Given the description of an element on the screen output the (x, y) to click on. 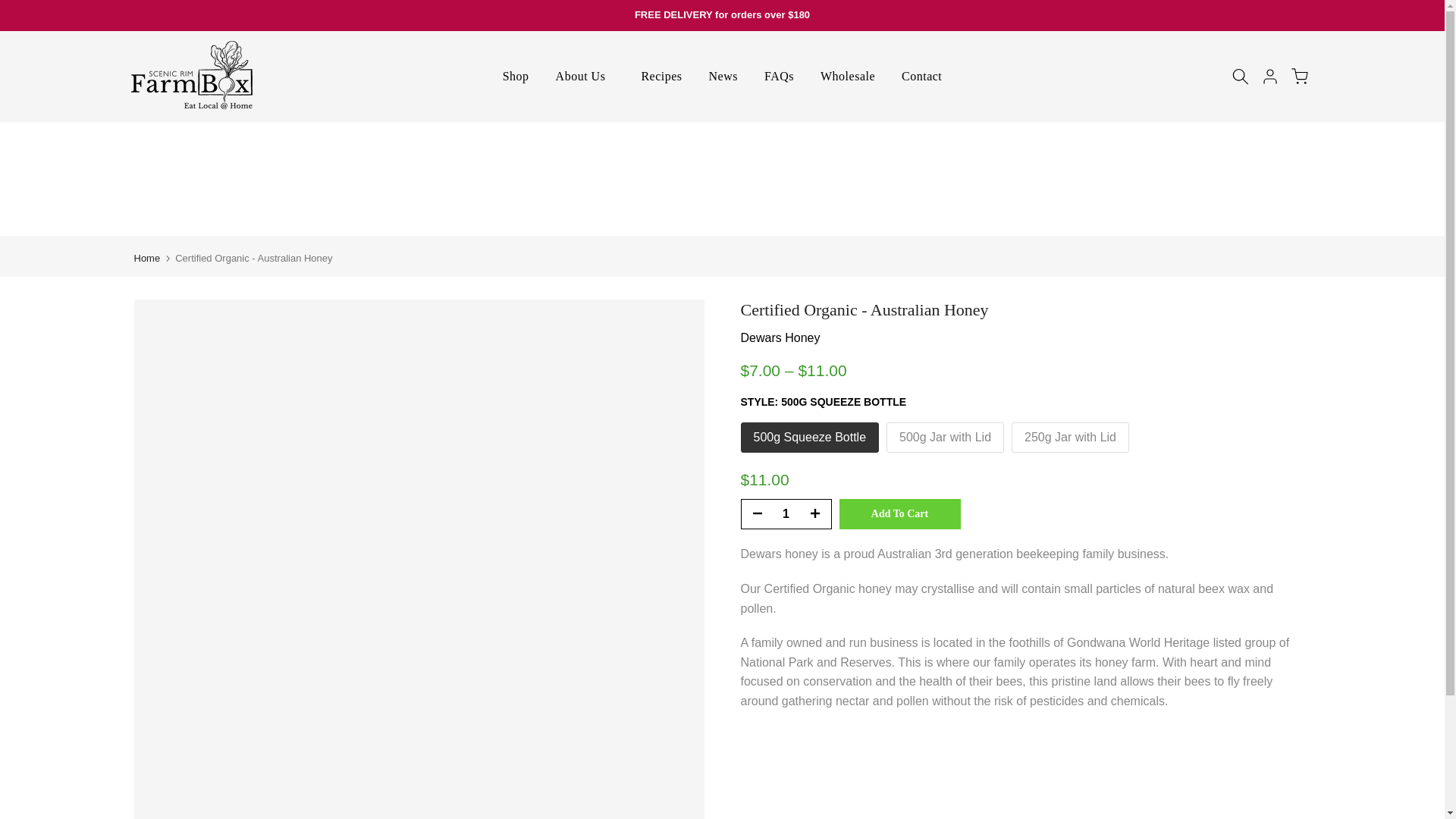
Recipes (661, 76)
Home (146, 257)
Add To Cart (898, 513)
Dewars Honey (779, 337)
About Us (584, 76)
Skip to content (10, 7)
Wholesale (848, 76)
News (723, 76)
Contact (921, 76)
FAQs (778, 76)
